Given the description of an element on the screen output the (x, y) to click on. 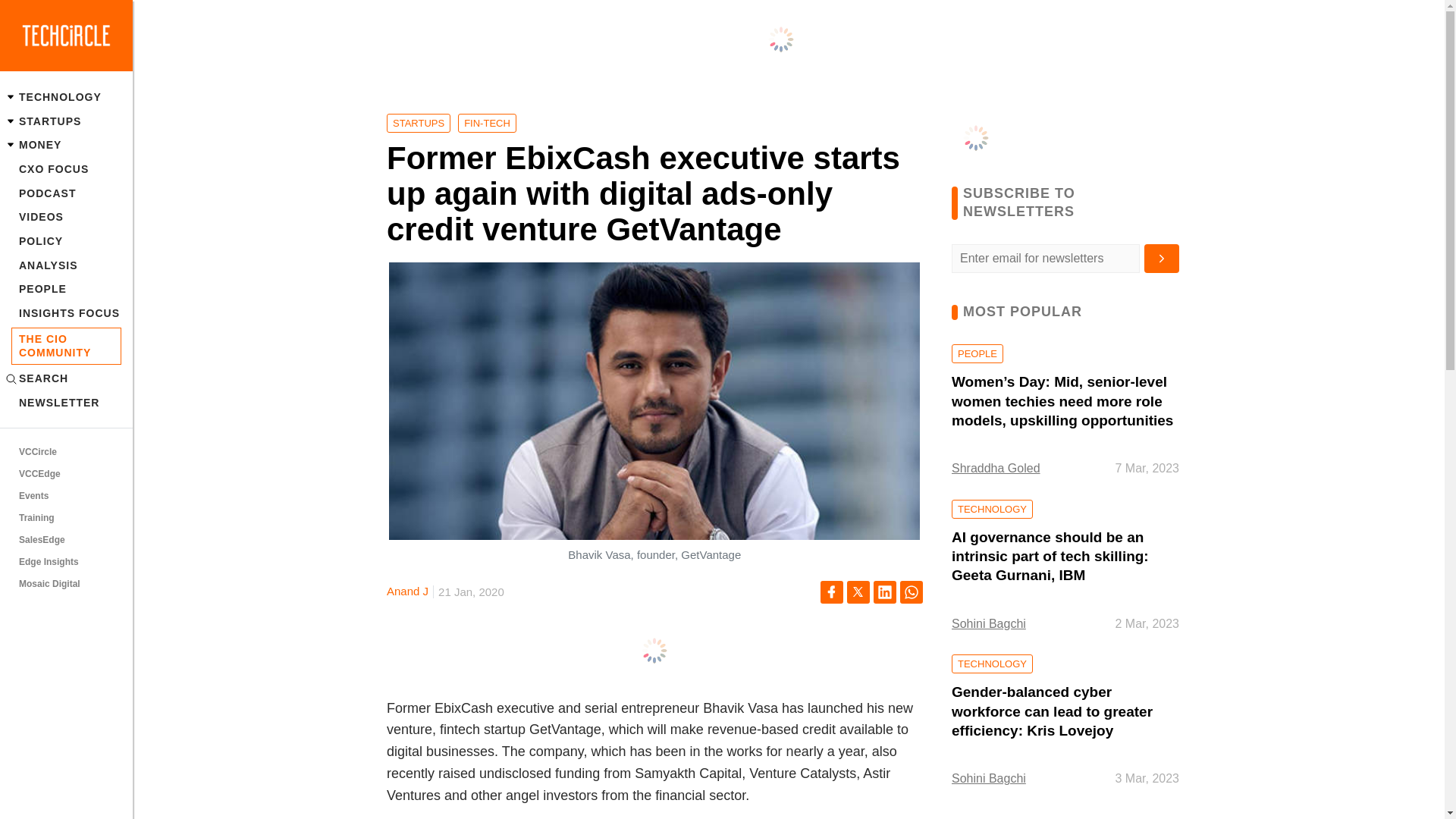
ANALYSIS (66, 265)
POLICY (66, 240)
PODCAST (66, 193)
STARTUPS (66, 121)
Whatsapp (911, 591)
Events (66, 496)
VCCircle (66, 452)
Linkedin (884, 591)
MONEY (66, 145)
THE CIO COMMUNITY (65, 345)
